Given the description of an element on the screen output the (x, y) to click on. 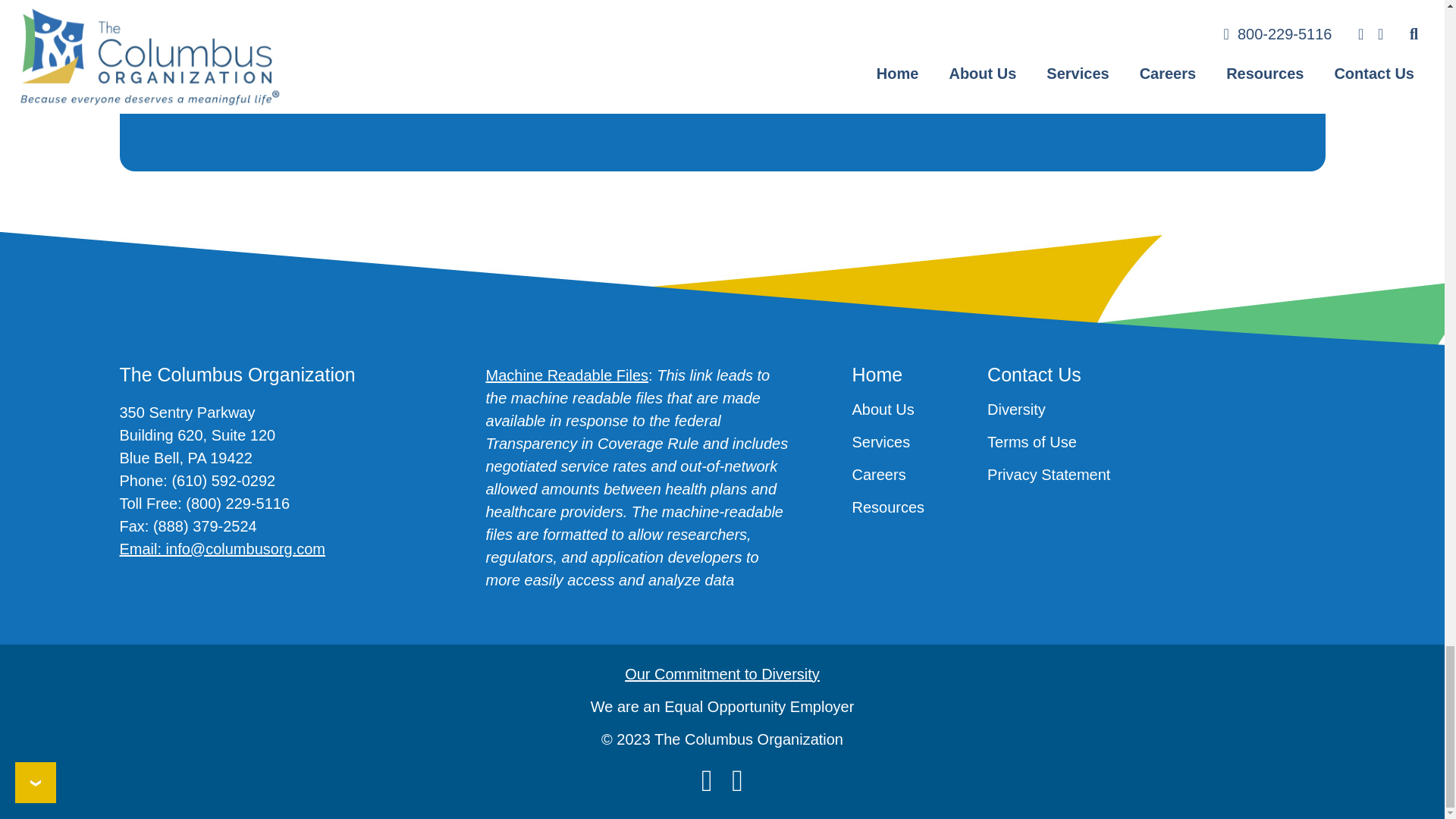
Submit (173, 92)
Machine Readable Files (565, 375)
Submit (173, 92)
